Given the description of an element on the screen output the (x, y) to click on. 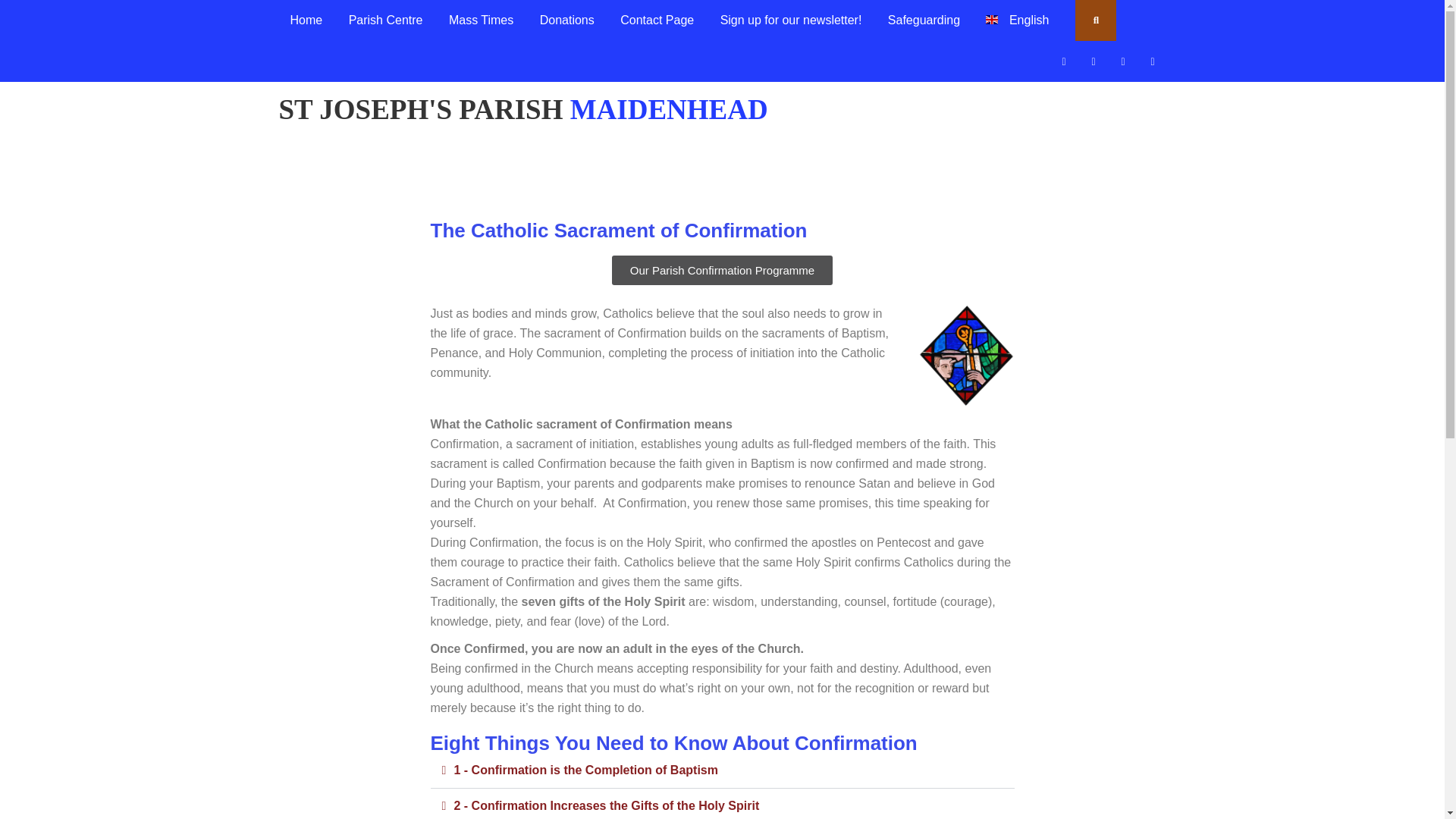
Parish Centre (385, 20)
2 - Confirmation Increases the Gifts of the Holy Spirit (605, 805)
Our Parish Confirmation Programme (721, 270)
Donations (566, 20)
English (1016, 20)
ST JOSEPH'S PARISH MAIDENHEAD (523, 109)
Mass Times (481, 20)
Safeguarding (923, 20)
Sign up for our newsletter! (791, 20)
1 - Confirmation is the Completion of Baptism (584, 769)
